Given the description of an element on the screen output the (x, y) to click on. 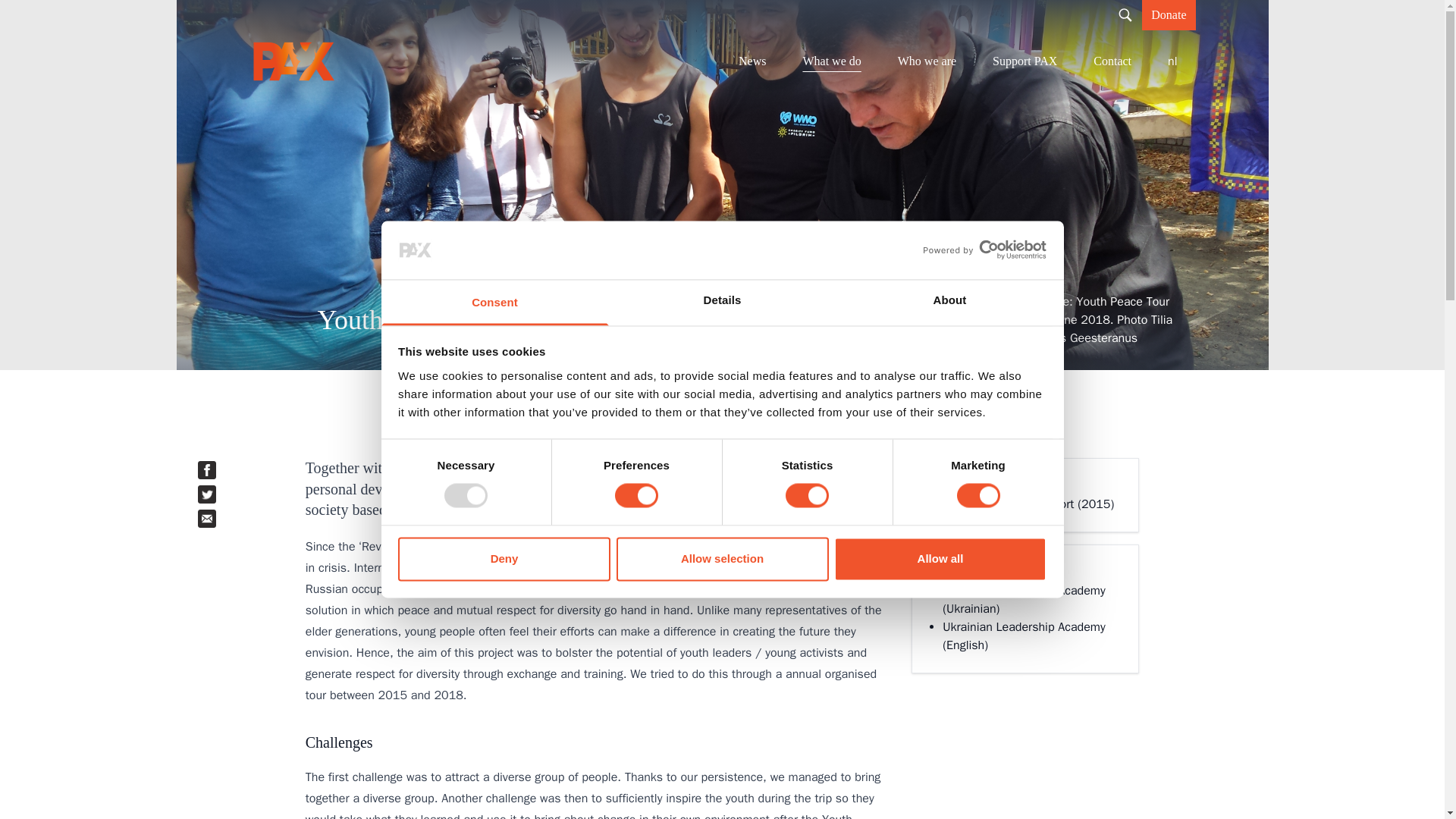
About (948, 302)
Consent (494, 302)
Allow all (940, 558)
Allow selection (721, 558)
Deny (503, 558)
Details (721, 302)
